Given the description of an element on the screen output the (x, y) to click on. 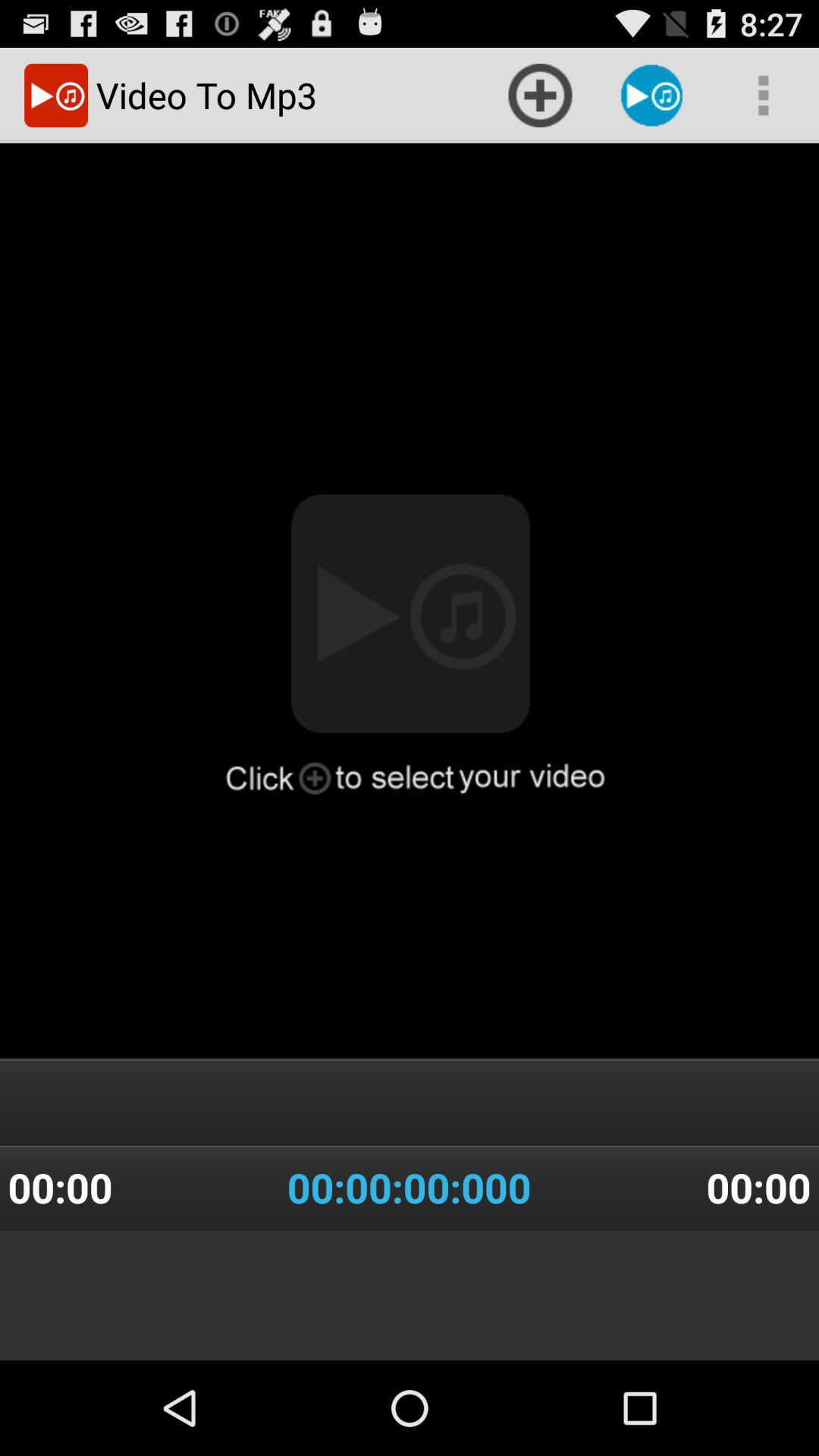
turn on the item at the top (540, 95)
